Given the description of an element on the screen output the (x, y) to click on. 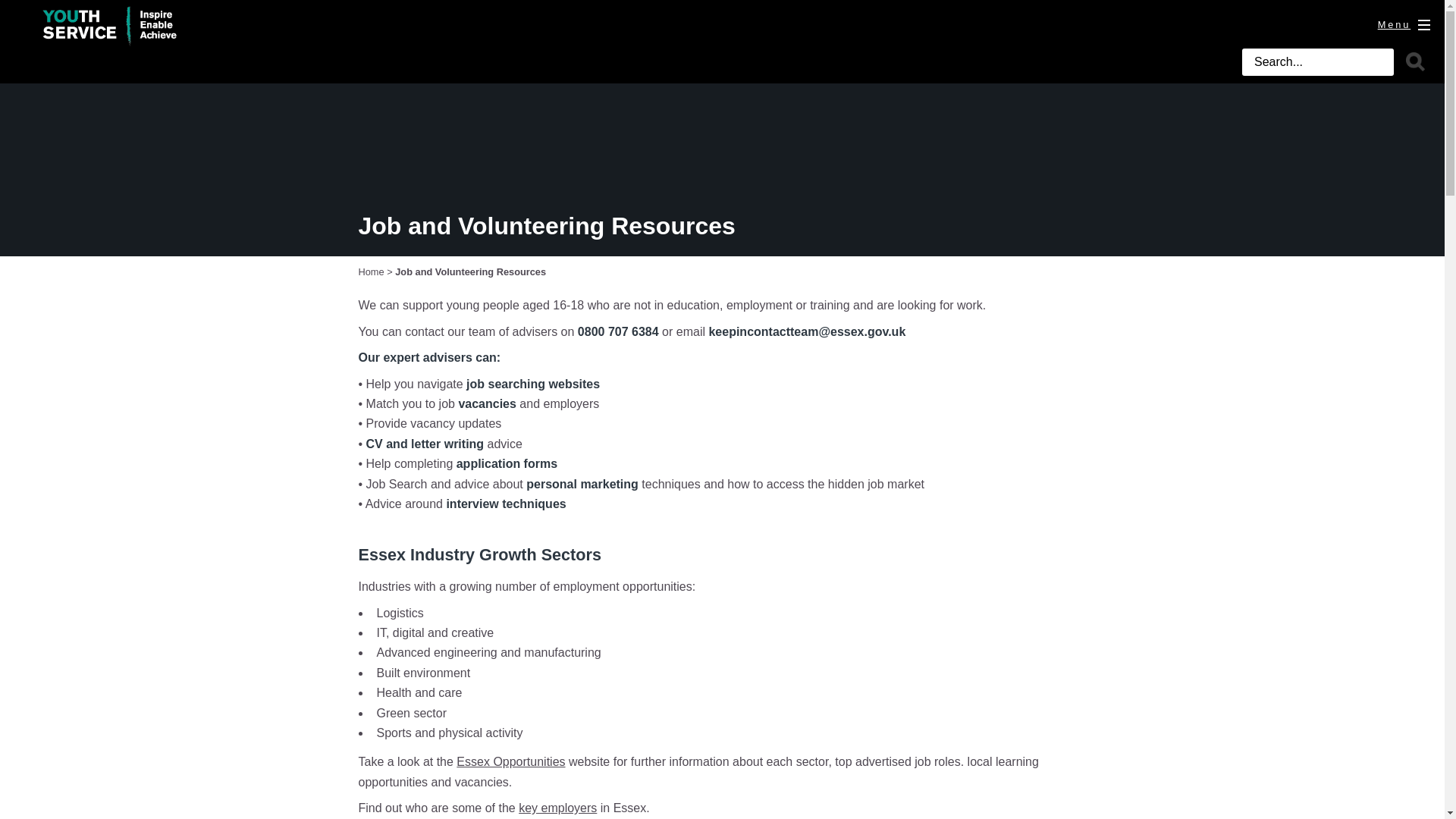
Home (371, 271)
key employers (557, 807)
Search... (1317, 62)
Essex Opportunities (510, 761)
